Given the description of an element on the screen output the (x, y) to click on. 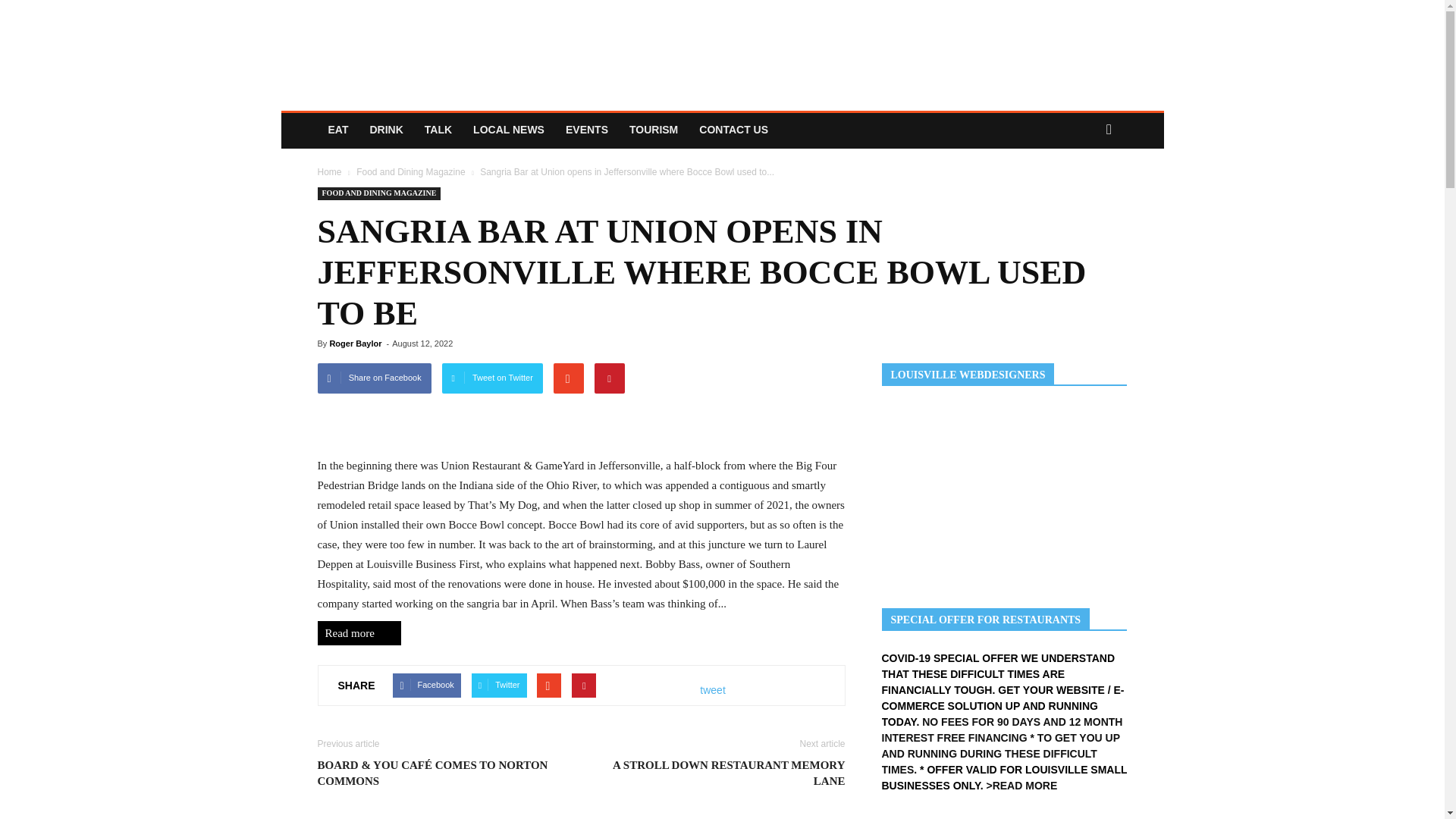
EAT (337, 129)
